Given the description of an element on the screen output the (x, y) to click on. 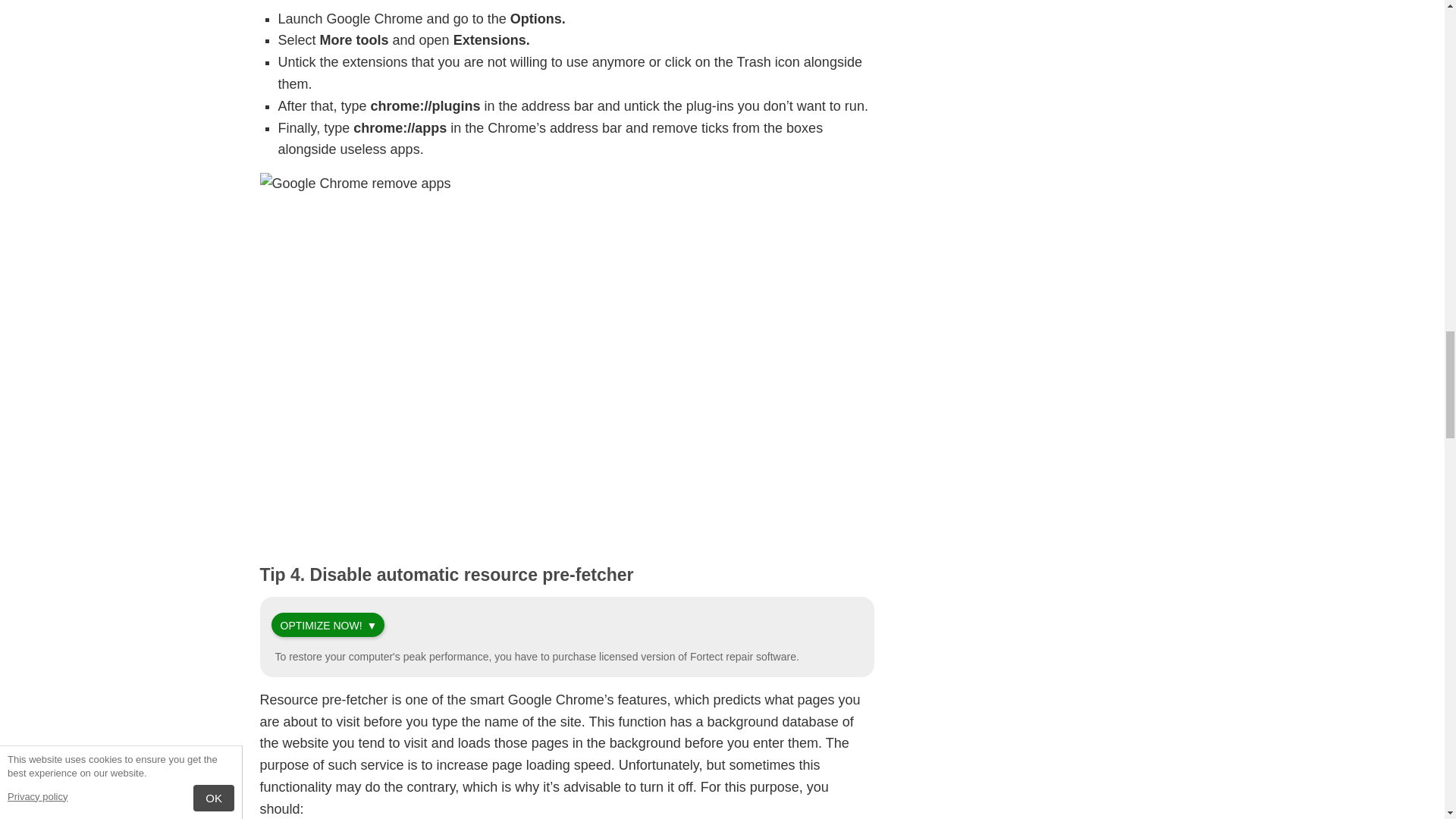
OPTIMIZE NOW! (321, 625)
